Given the description of an element on the screen output the (x, y) to click on. 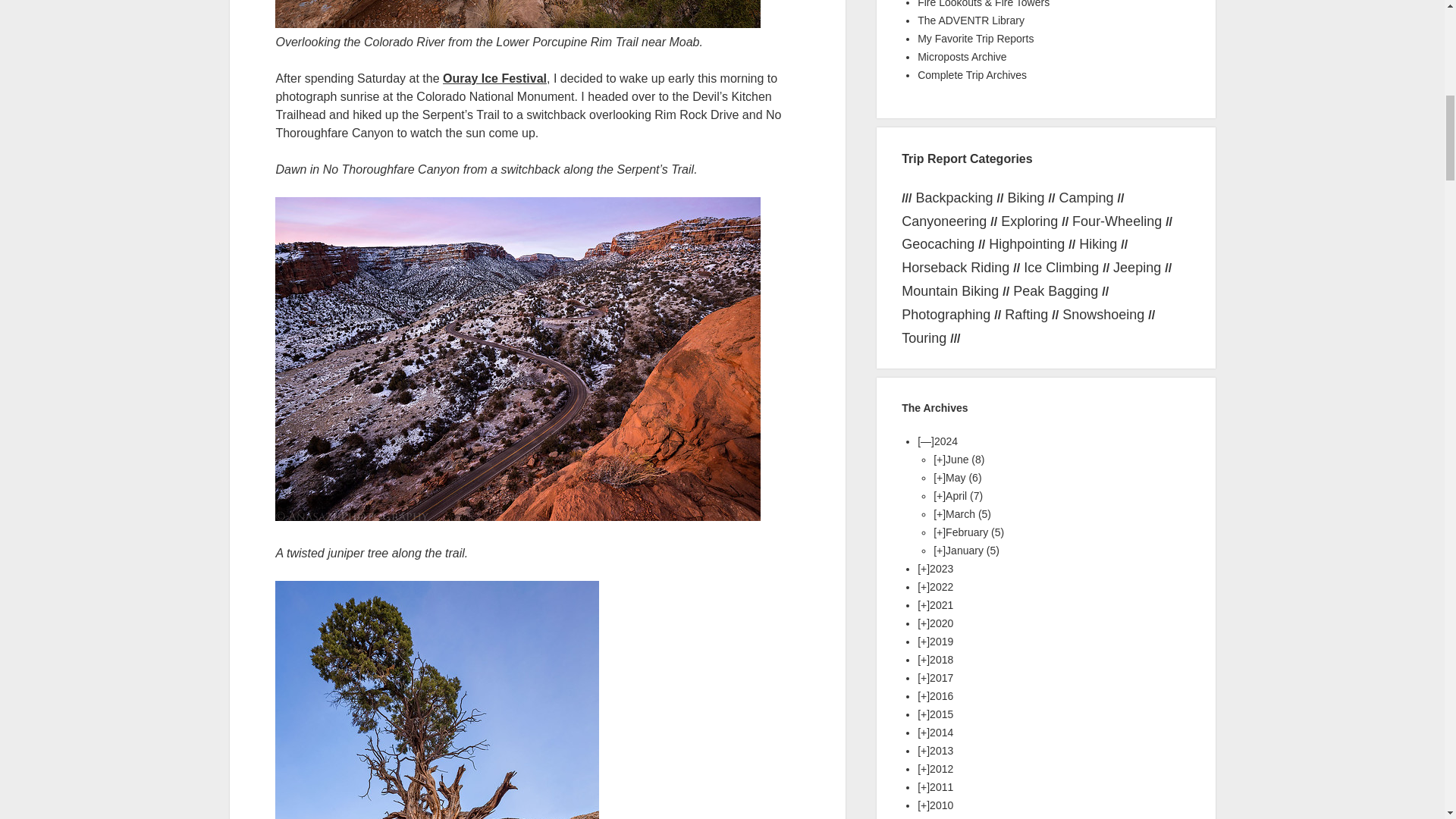
No Thoroughfare Morning (517, 516)
Above the Colorado (517, 23)
